Given the description of an element on the screen output the (x, y) to click on. 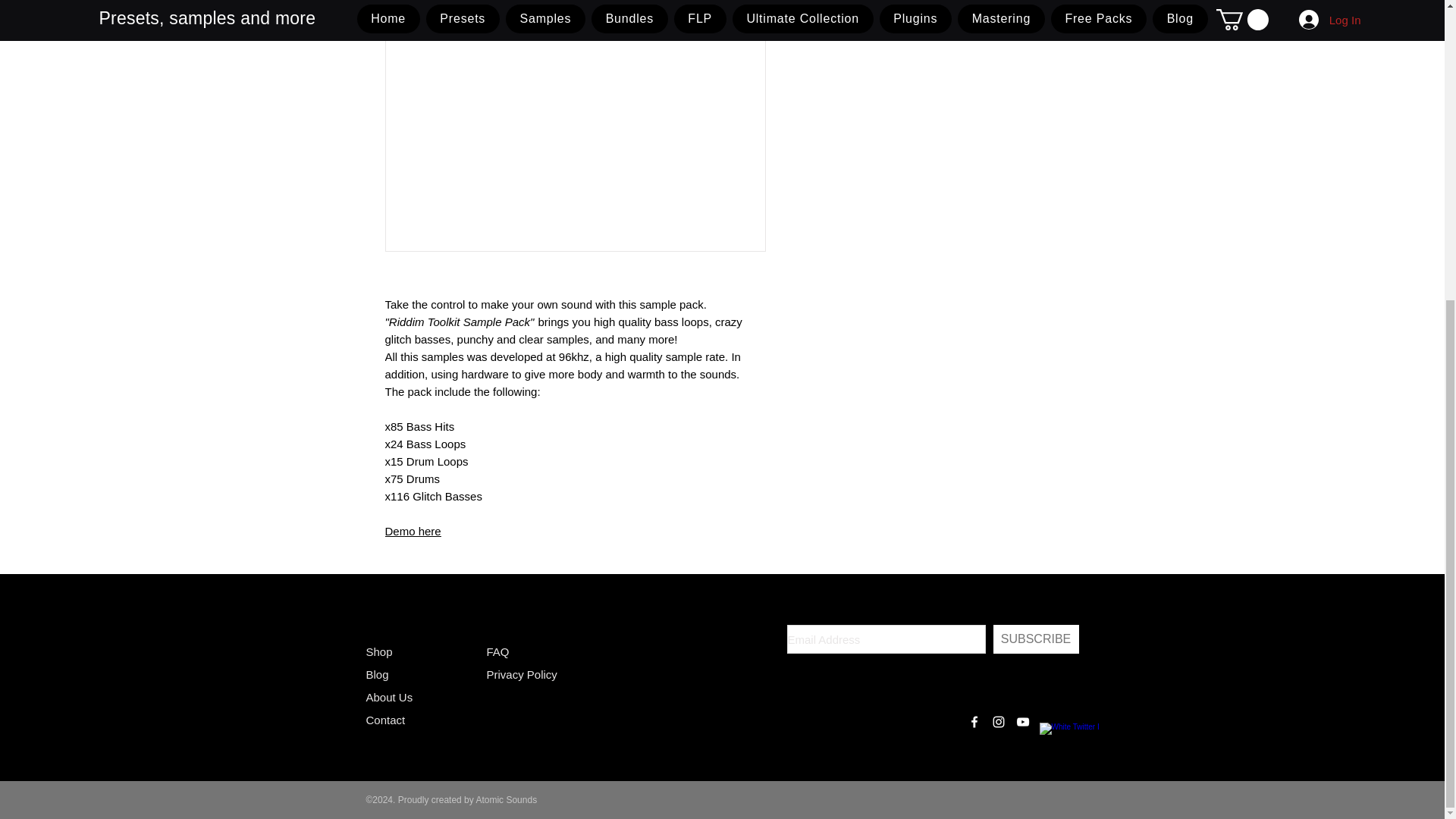
About Us (388, 697)
FAQ (497, 651)
Demo here (413, 530)
Contact (384, 719)
SUBSCRIBE (1035, 638)
Privacy Policy (521, 674)
Atomic Sounds (506, 799)
Shop (378, 651)
Blog (376, 674)
